Given the description of an element on the screen output the (x, y) to click on. 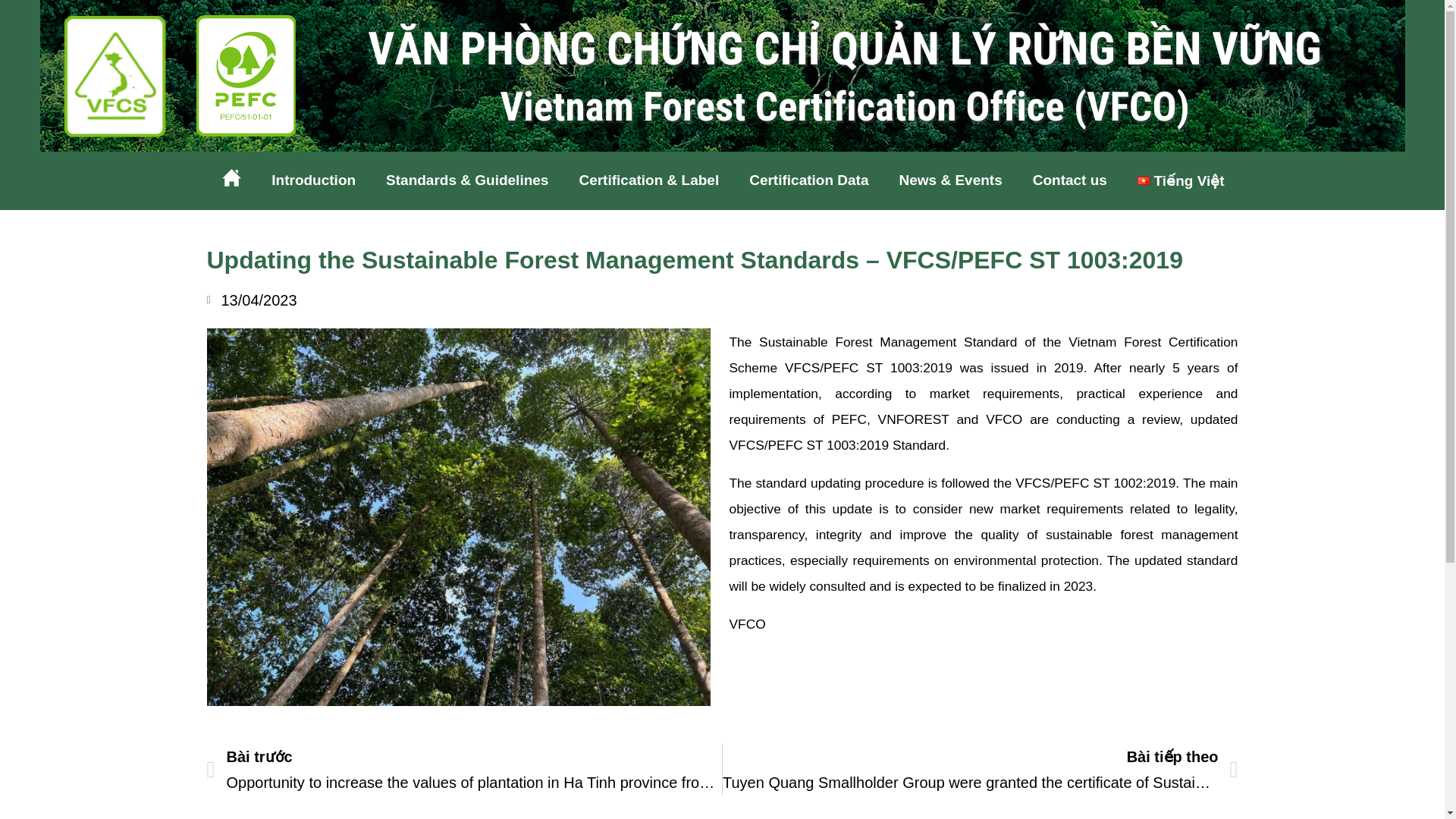
Certification Data (808, 180)
home-icon-png-white-4 (231, 177)
Introduction (313, 180)
Contact us (1069, 180)
